Given the description of an element on the screen output the (x, y) to click on. 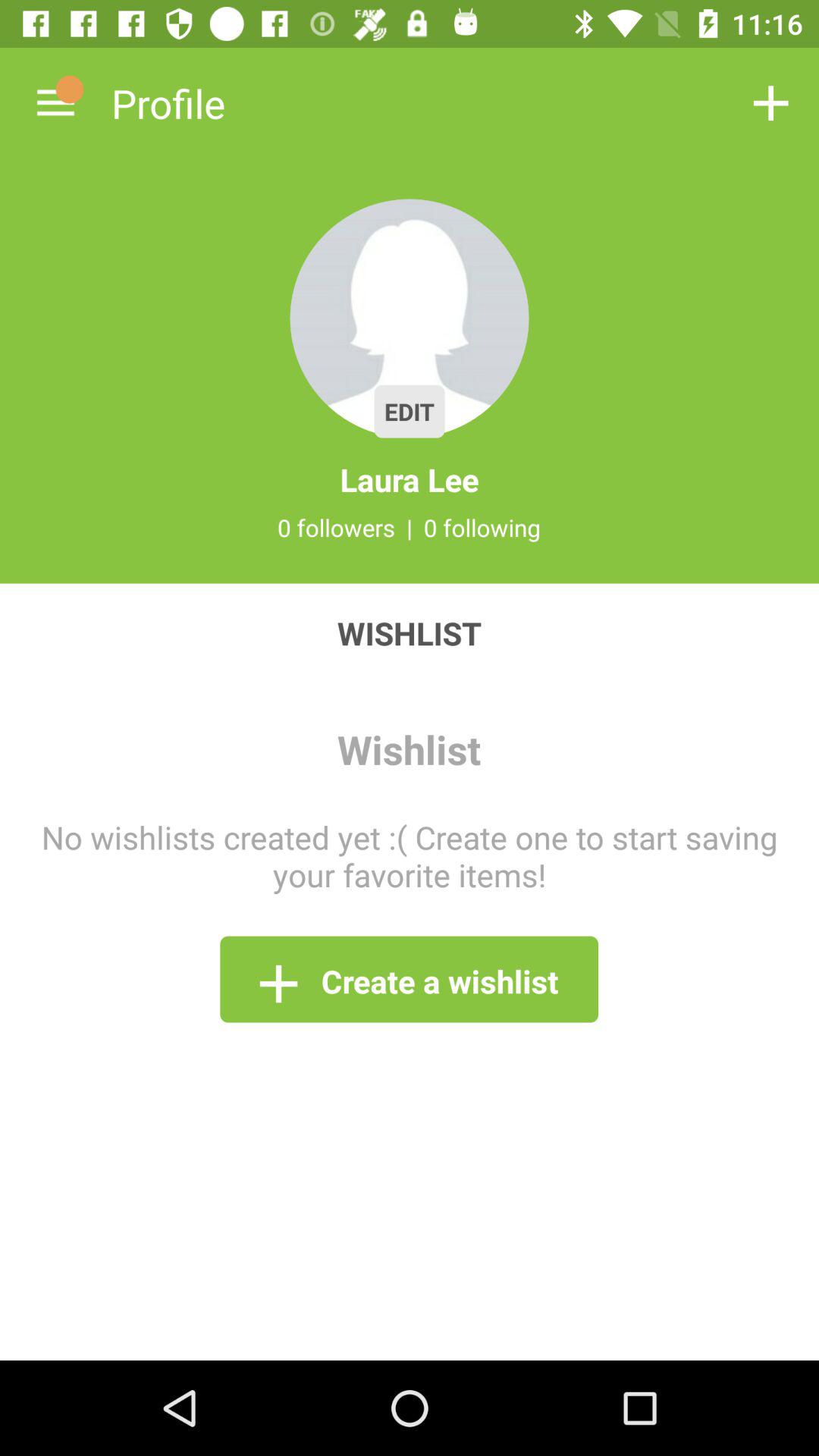
scroll to the edit (409, 411)
